Given the description of an element on the screen output the (x, y) to click on. 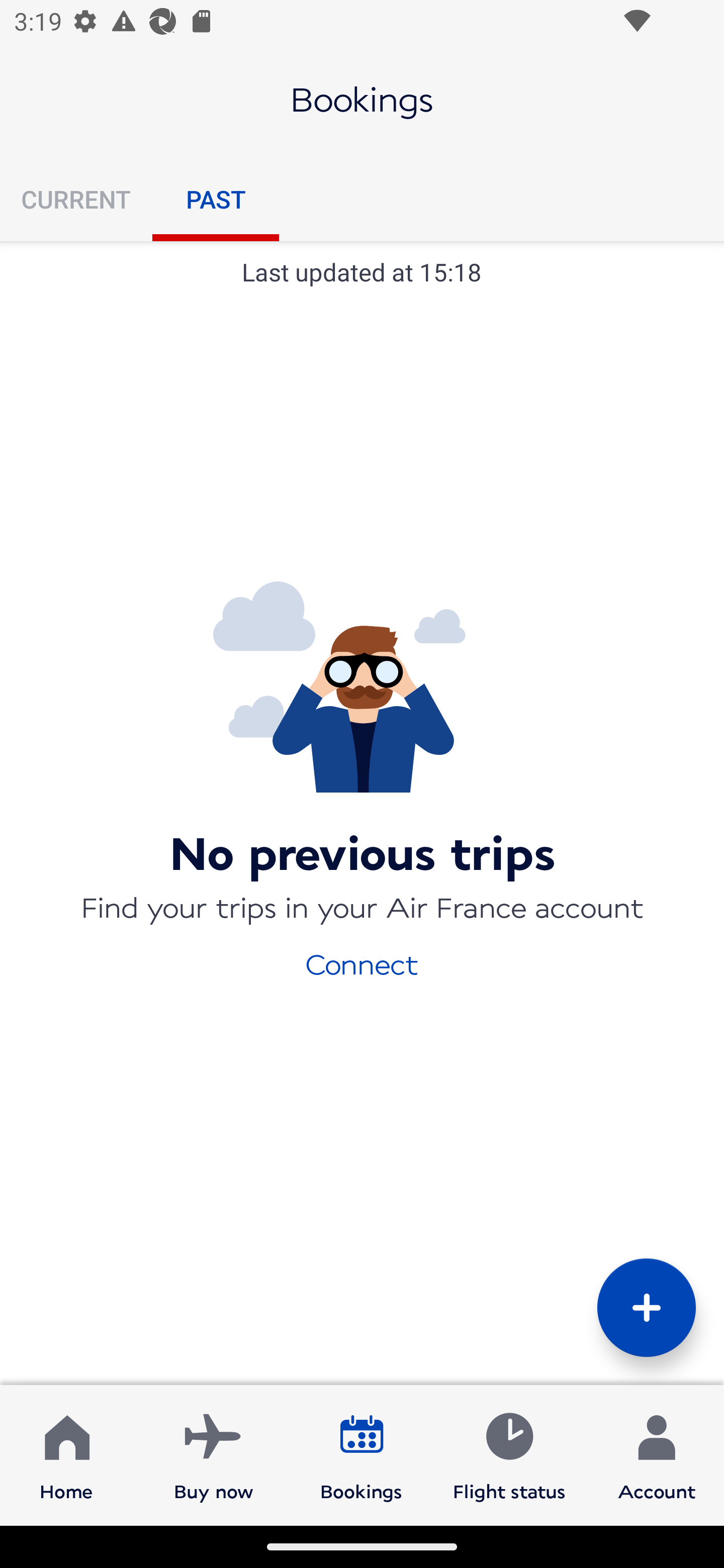
CURRENT (76, 198)
Connect (361, 963)
Home (66, 1454)
Buy now (213, 1454)
Flight status (509, 1454)
Account (657, 1454)
